Given the description of an element on the screen output the (x, y) to click on. 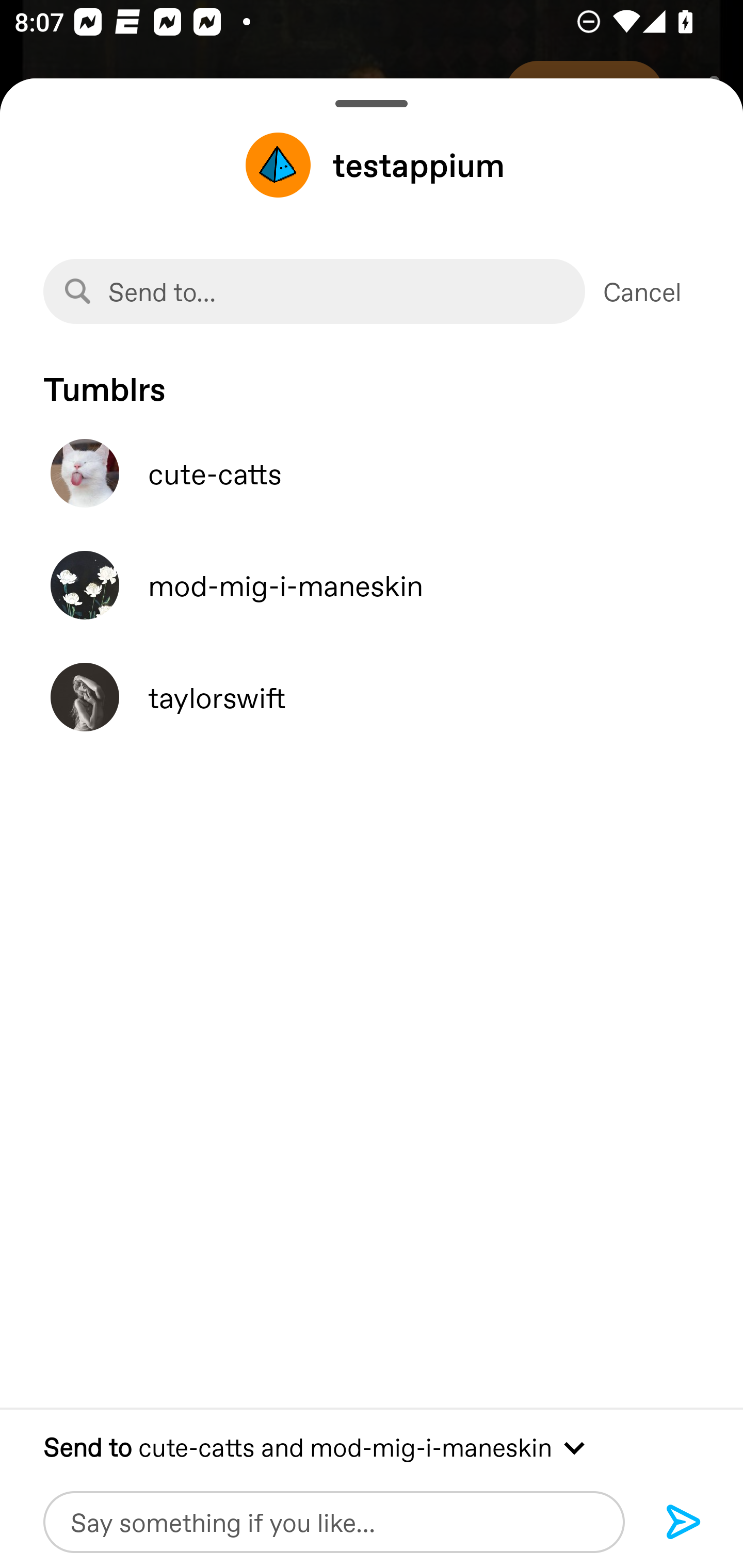
testappium (371, 164)
Cancel (642, 291)
Send to… (314, 291)
Tumblrs (371, 379)
cute-catts (371, 473)
mod-mig-i-maneskin (371, 585)
taylorswift (371, 696)
Send to cute-catts and mod-mig-i-maneskin (371, 1446)
Send (683, 1522)
Say something if you like… (333, 1521)
